Given the description of an element on the screen output the (x, y) to click on. 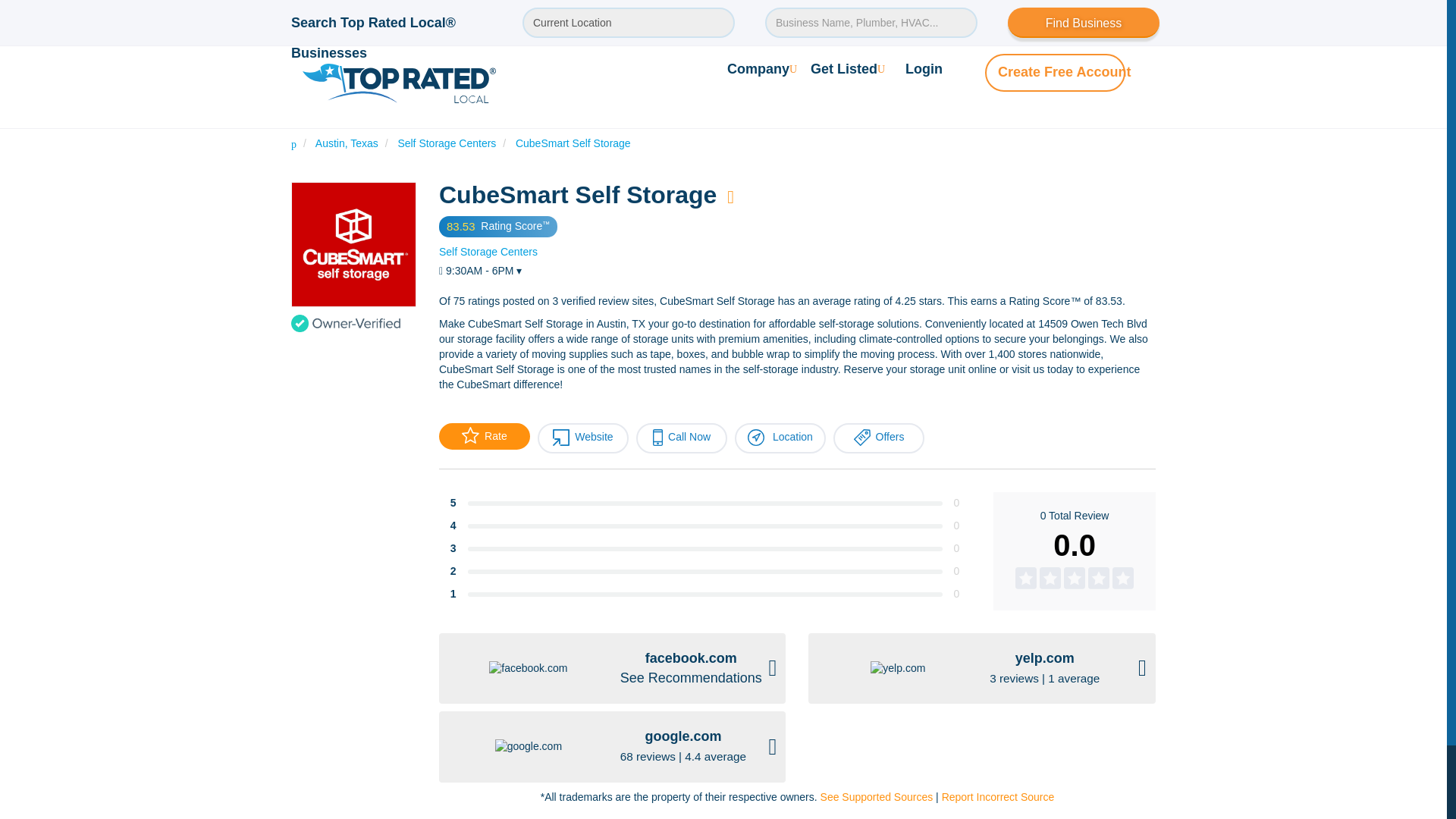
Rate (484, 436)
Get Listed (847, 68)
Self Storage Centers (488, 251)
Find Business (1082, 22)
Self Storage Centers (446, 143)
Current Location (628, 22)
Austin, Texas (346, 143)
Company (761, 68)
Current Location (628, 22)
CubeSmart Self Storage (572, 143)
Website (582, 438)
Login (923, 68)
Create Free Account (1064, 70)
